Given the description of an element on the screen output the (x, y) to click on. 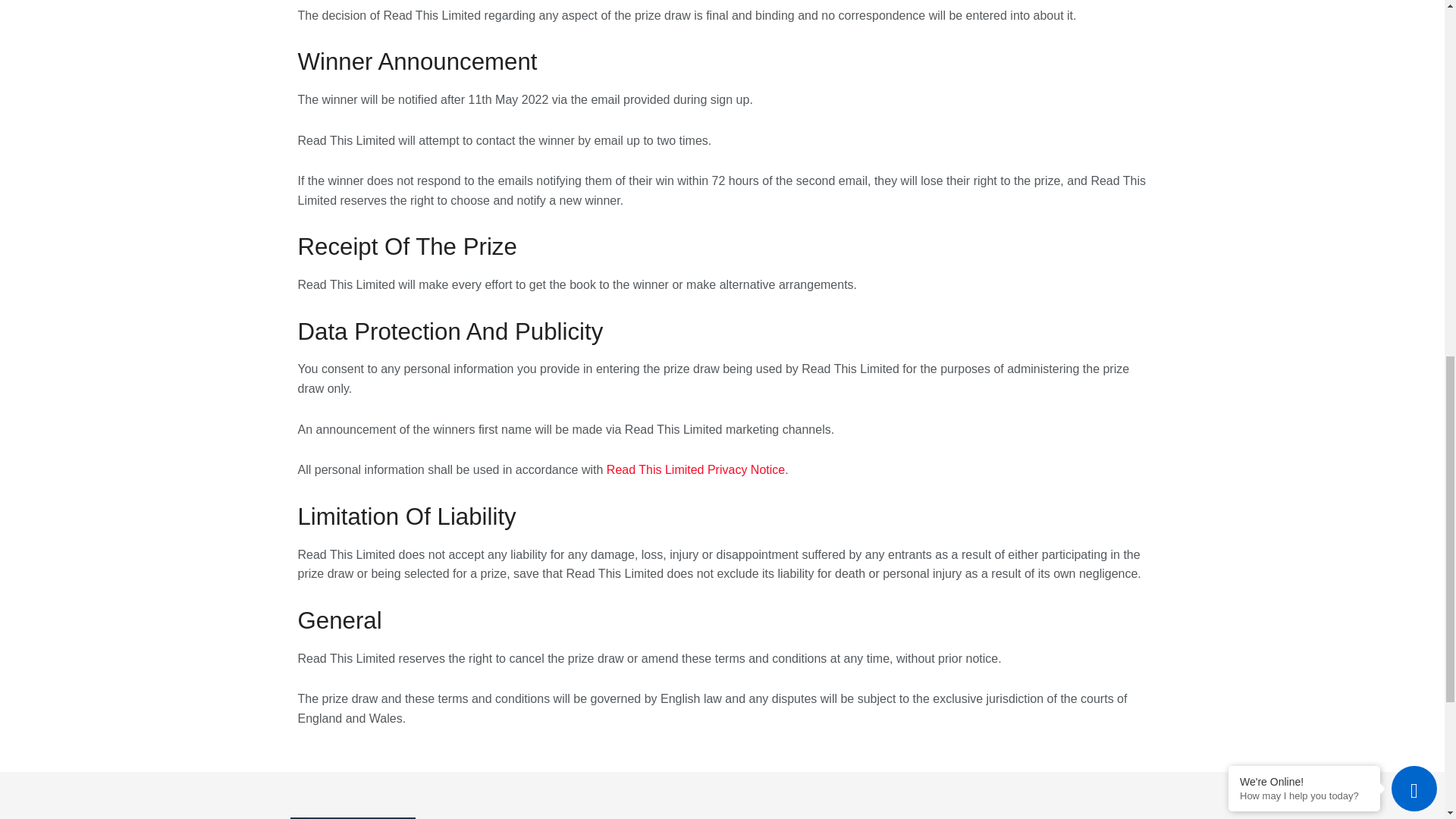
Read This Limited Privacy Notice (695, 469)
